Given the description of an element on the screen output the (x, y) to click on. 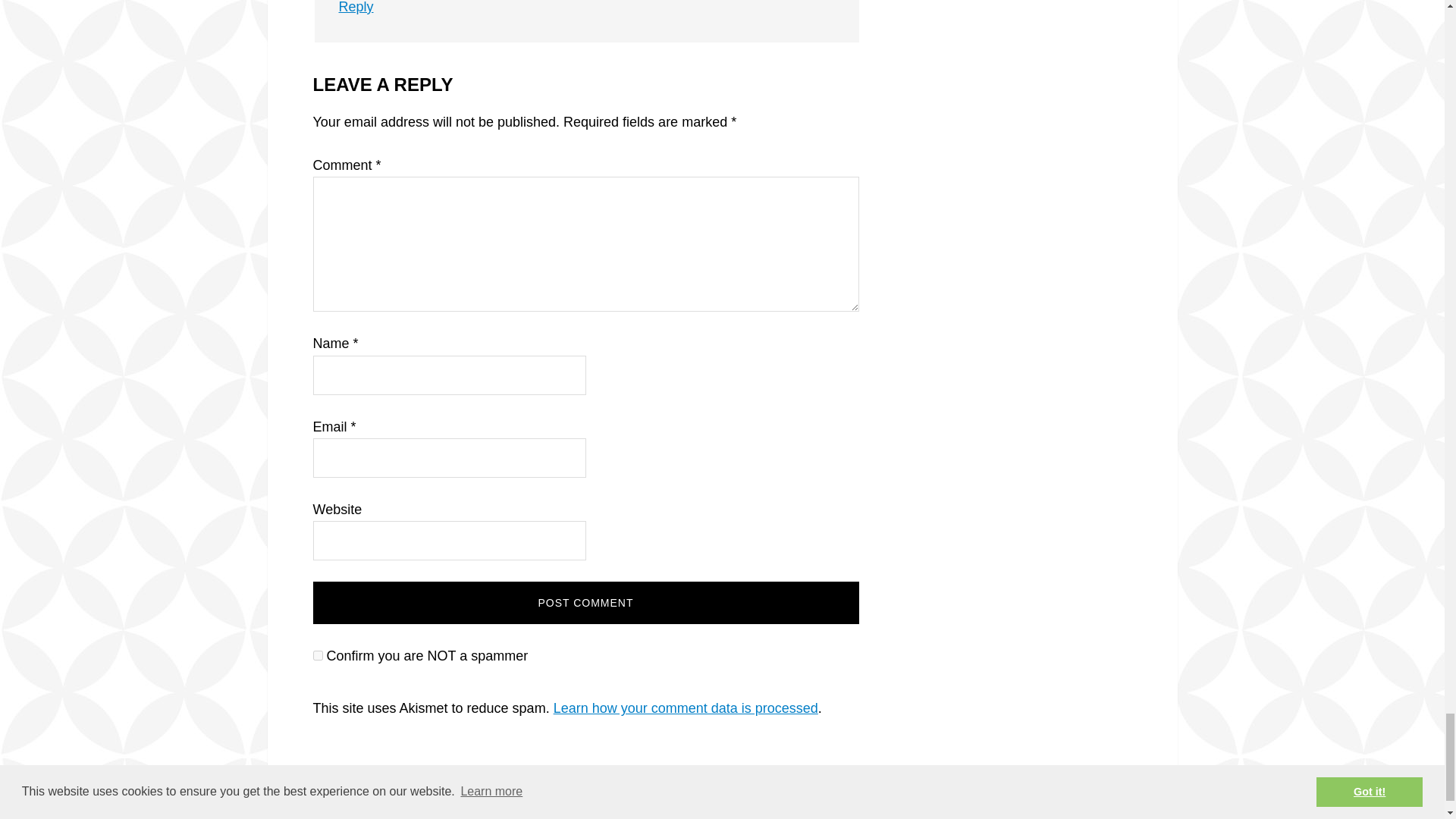
on (317, 655)
Post Comment (586, 602)
